Given the description of an element on the screen output the (x, y) to click on. 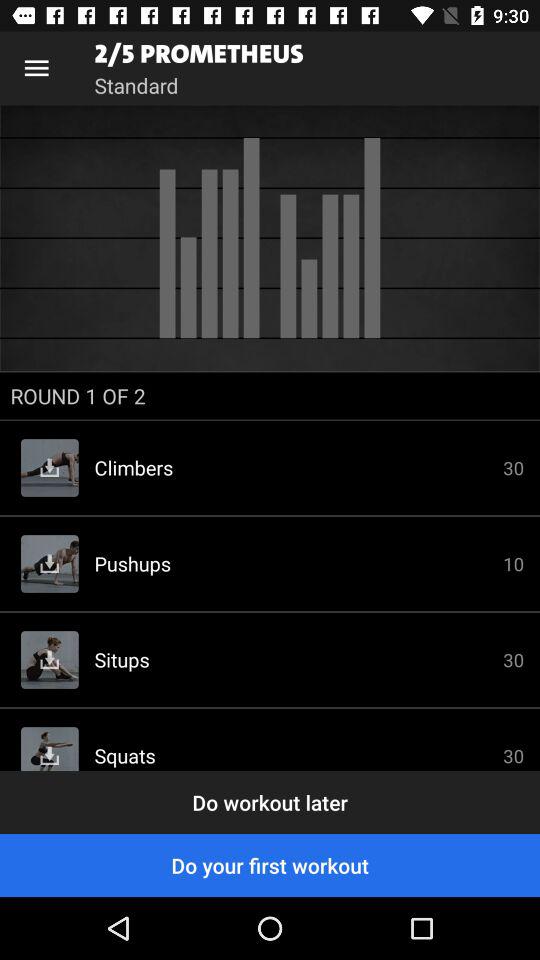
open the icon above the 30 item (270, 395)
